Given the description of an element on the screen output the (x, y) to click on. 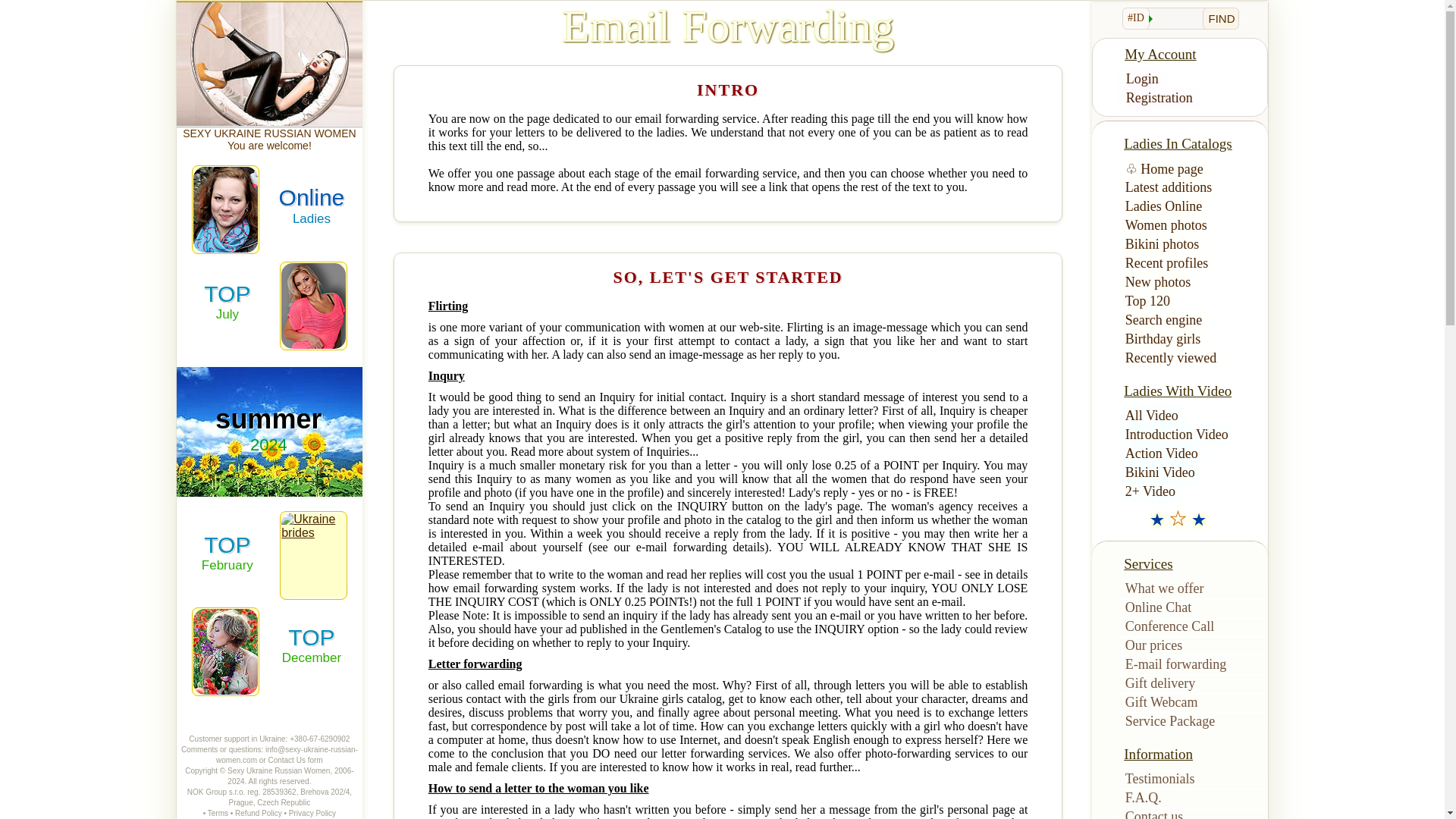
Sexy Ukraine Russian Women (278, 770)
Recent profiles (1191, 263)
Conference Call (1191, 627)
All Video (1191, 416)
FIND (1220, 18)
New photos (1191, 282)
Bikini Video (1191, 473)
Ladies Online (227, 552)
E-mail forwarding (1191, 207)
Refund Policy (1191, 665)
Online Chat (227, 301)
Contact Us (258, 813)
Terms (1191, 608)
